Given the description of an element on the screen output the (x, y) to click on. 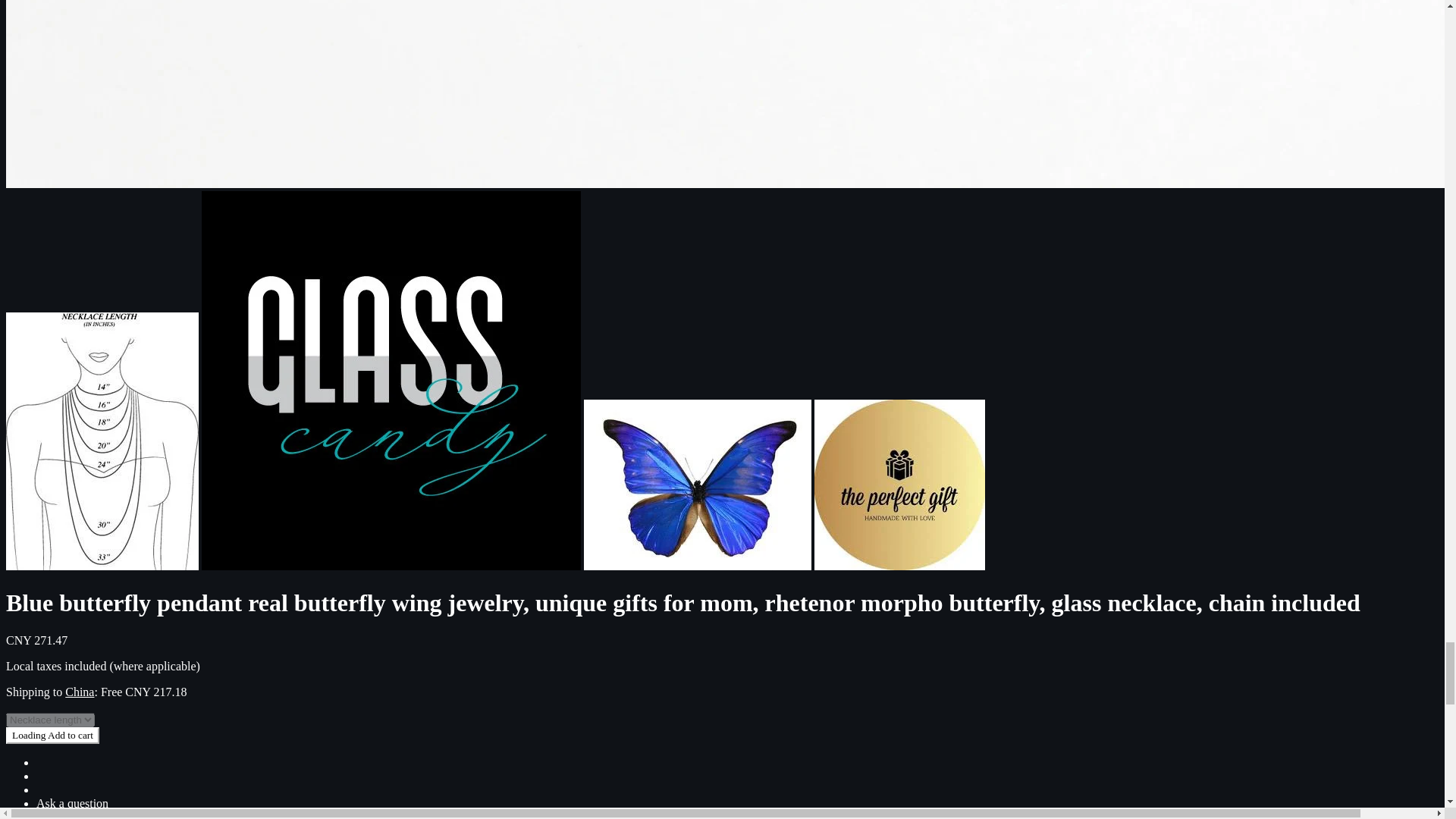
China (79, 691)
Loading Add to cart (52, 735)
Ask a question (71, 802)
